Given the description of an element on the screen output the (x, y) to click on. 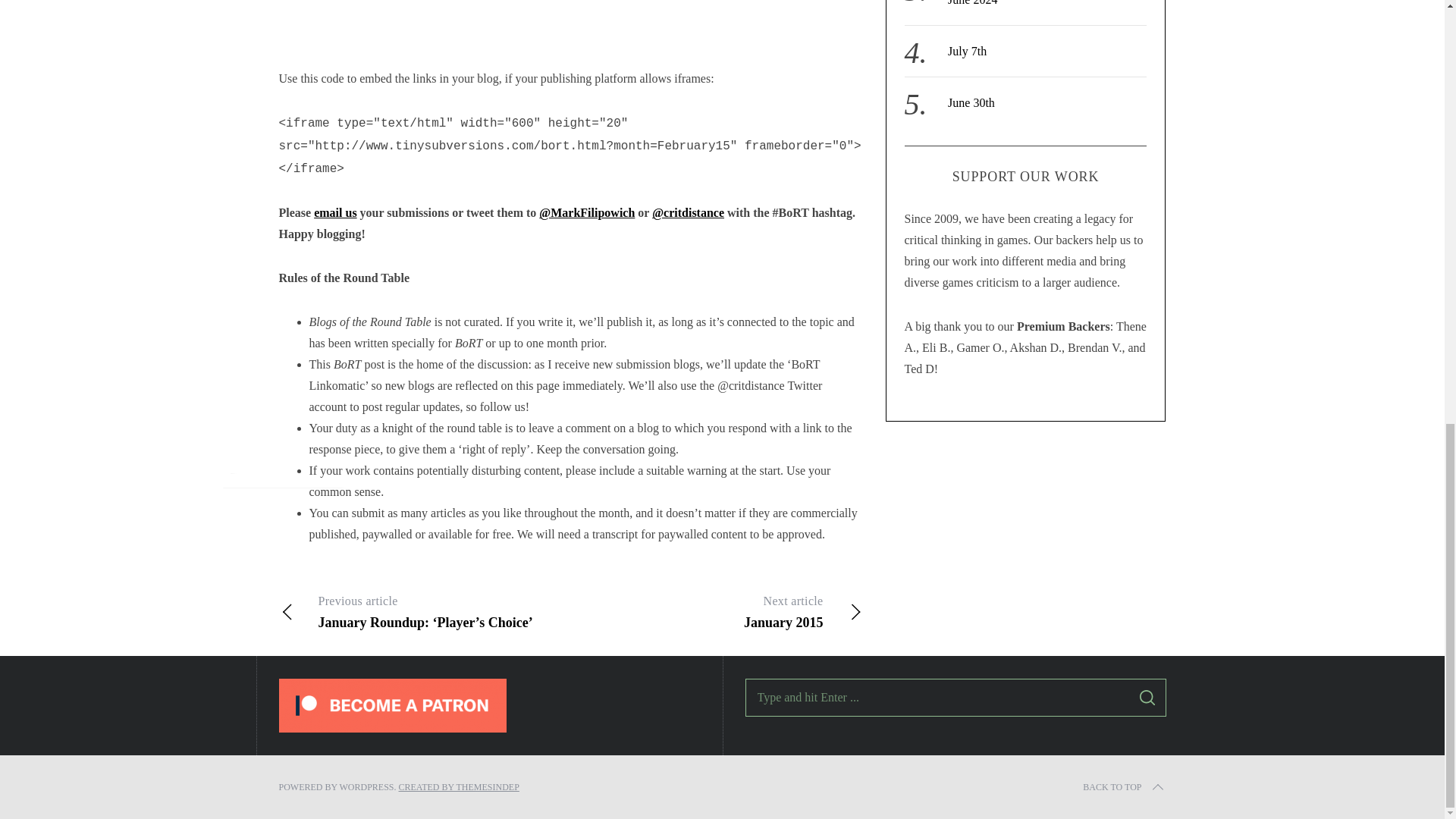
This Month in Videogame Vlogging, June 2024 (1036, 2)
July 7th (967, 51)
BACK TO TOP (715, 611)
SEARCH (1124, 787)
June 30th (1147, 697)
CREATED BY THEMESINDEP (970, 102)
